Given the description of an element on the screen output the (x, y) to click on. 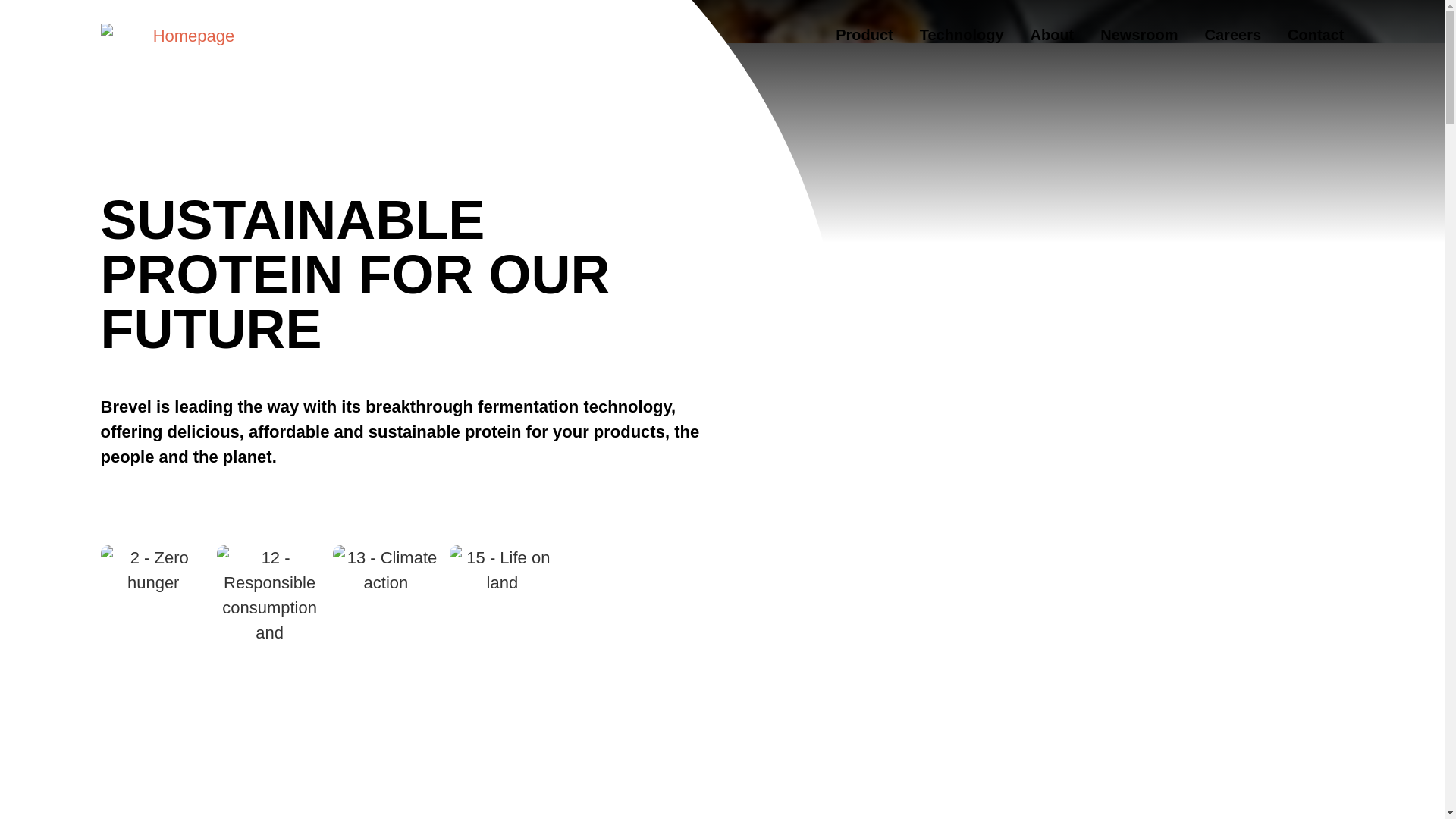
Careers (1233, 34)
About (1052, 34)
Technology (962, 34)
Newsroom (1138, 34)
Product (864, 34)
Contact (1315, 34)
